Given the description of an element on the screen output the (x, y) to click on. 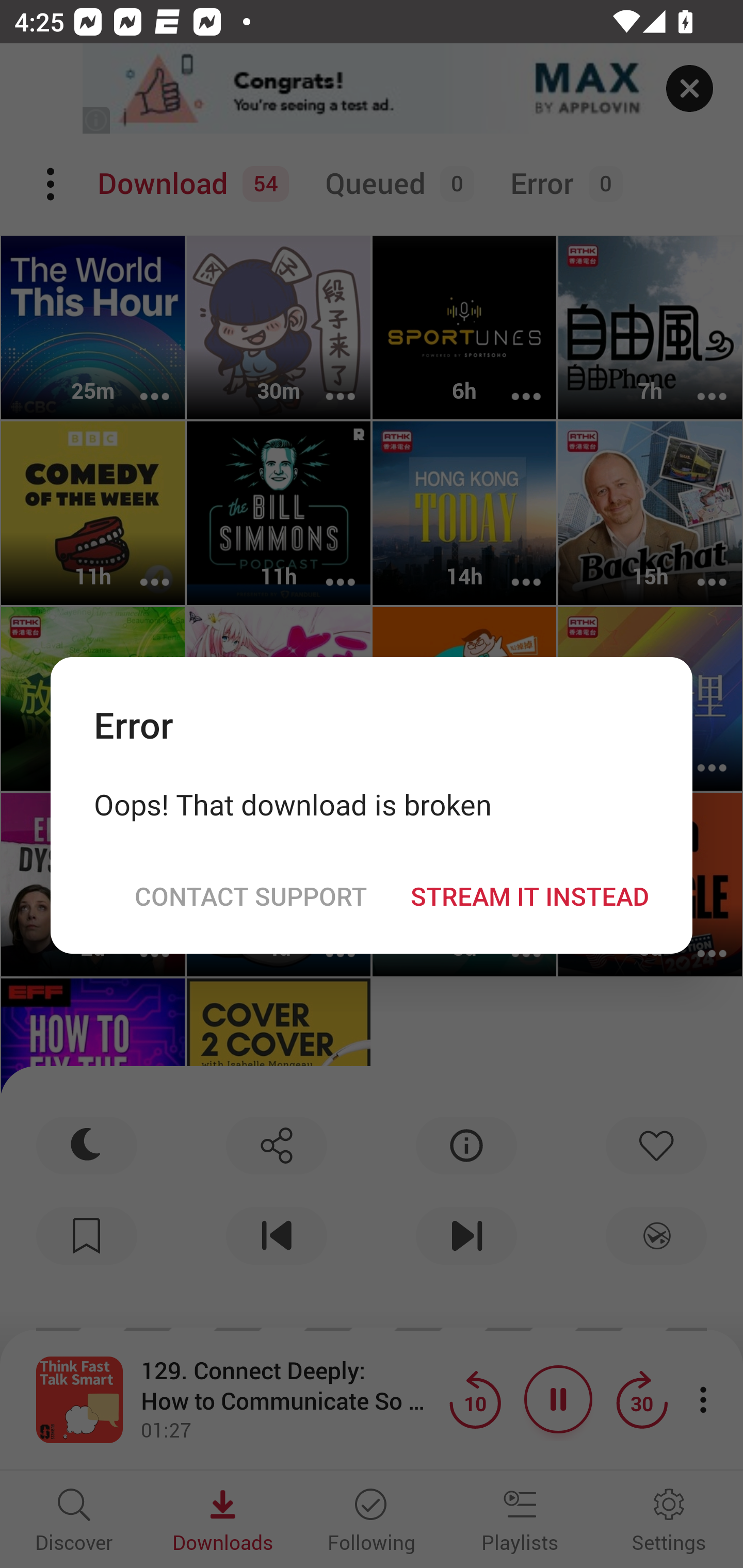
CONTACT SUPPORT (250, 895)
STREAM IT INSTEAD (529, 895)
